Given the description of an element on the screen output the (x, y) to click on. 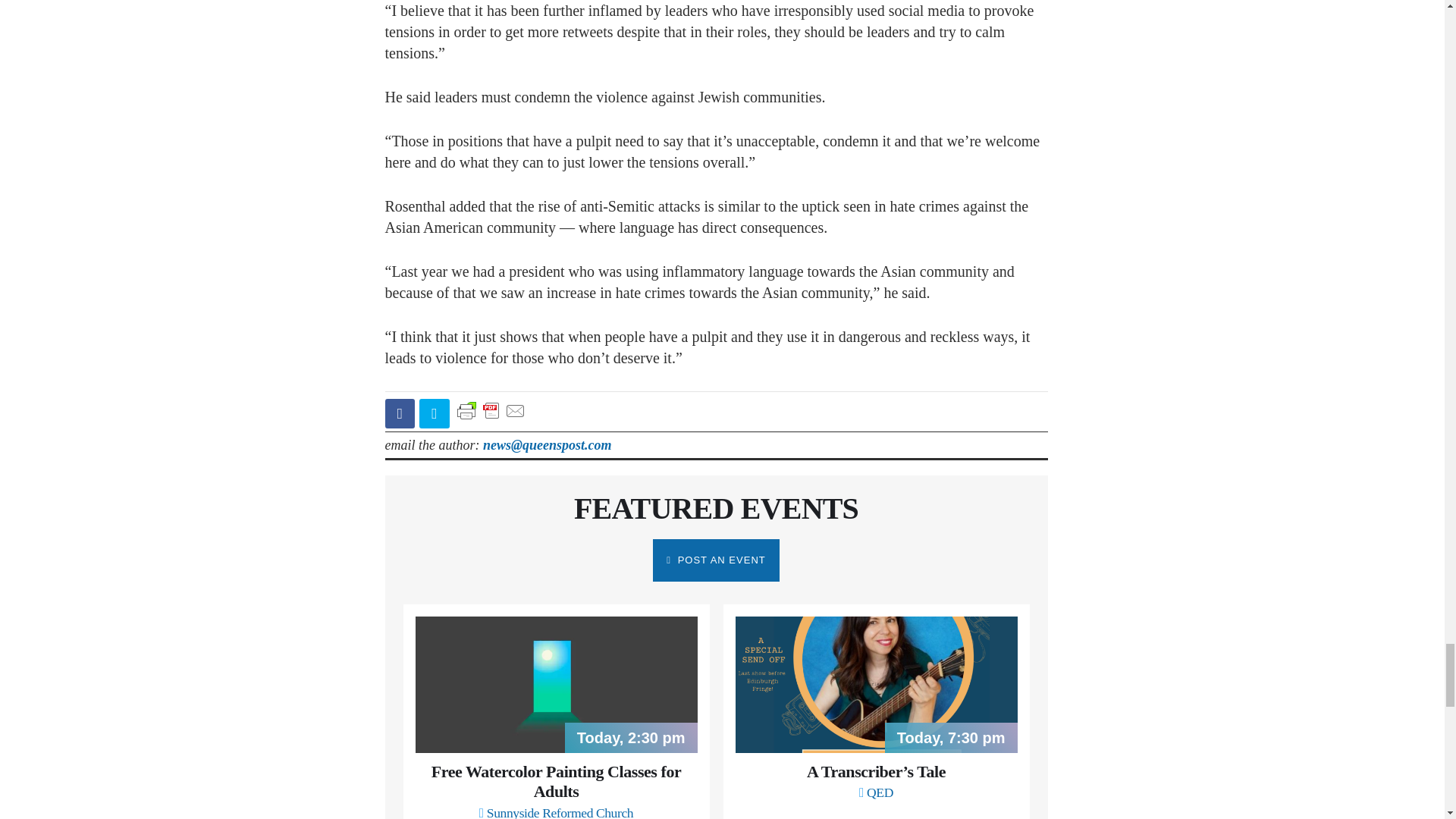
POST AN EVENT (715, 559)
FEATURED EVENTS (716, 508)
